Given the description of an element on the screen output the (x, y) to click on. 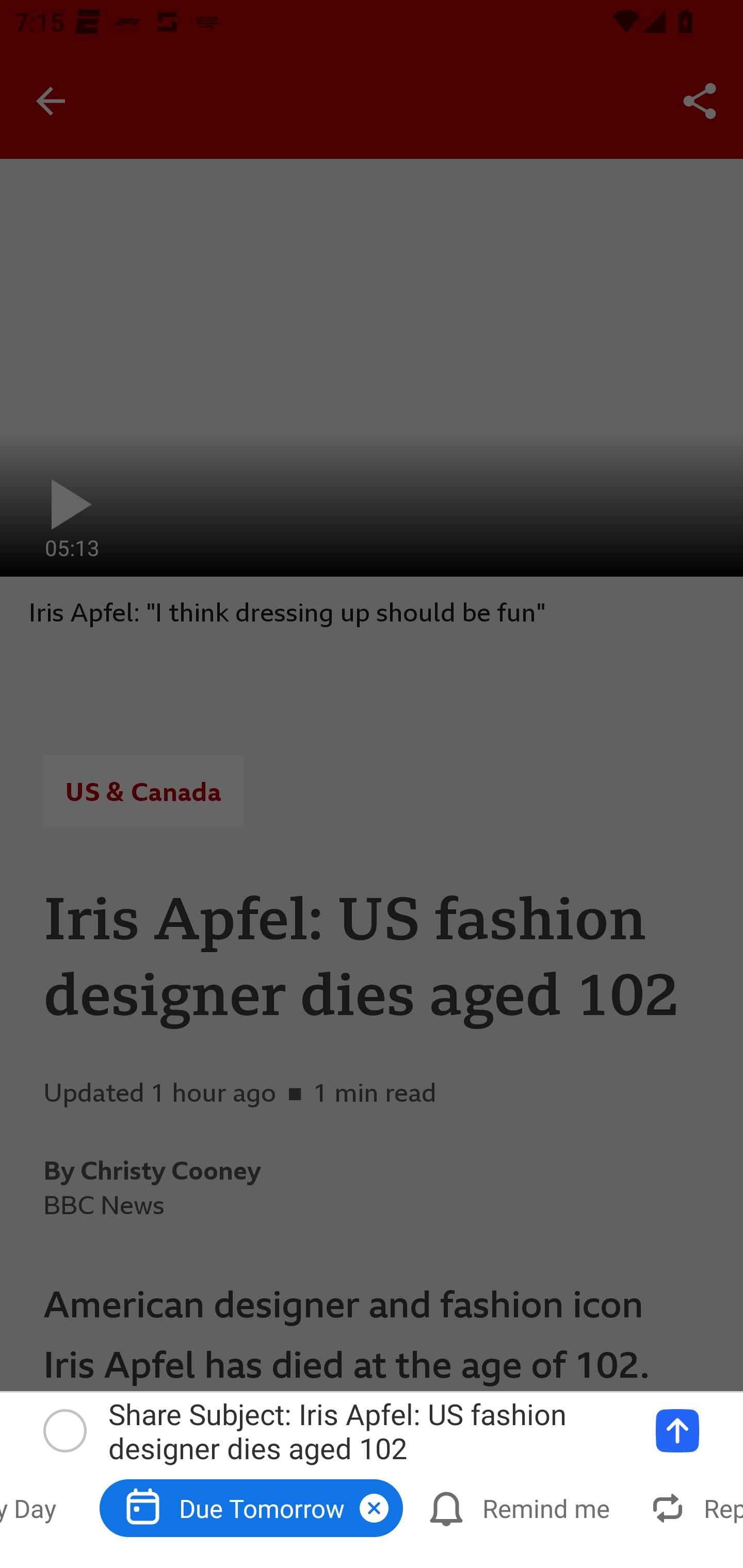
Add a task (676, 1430)
My Day (42, 1507)
Due Tomorrow Remove due date (250, 1507)
Remind me (520, 1507)
Repeat (690, 1507)
Remove due date (374, 1508)
